Given the description of an element on the screen output the (x, y) to click on. 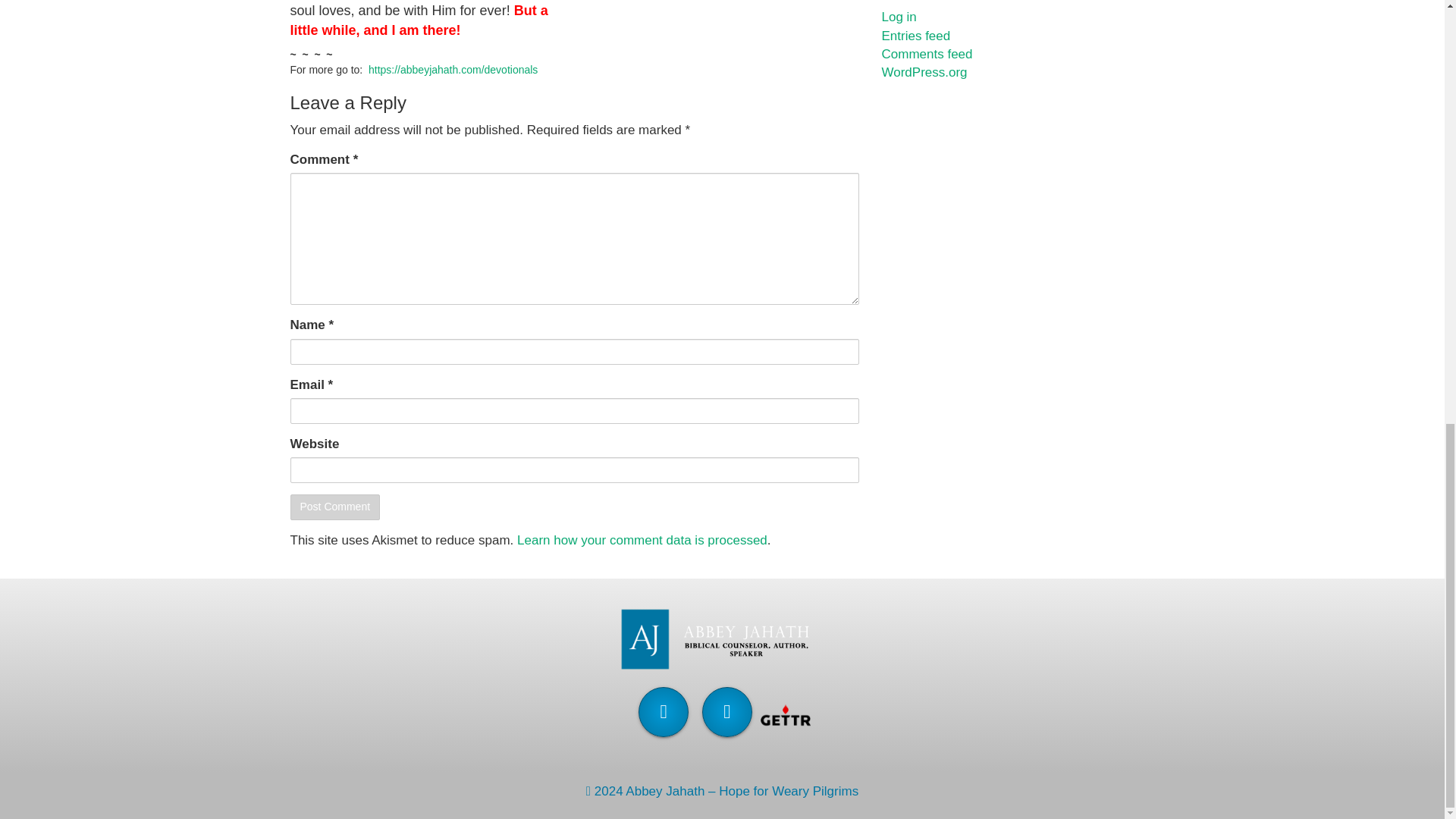
Post Comment (334, 507)
Post Comment (334, 507)
Learn how your comment data is processed (641, 540)
